Given the description of an element on the screen output the (x, y) to click on. 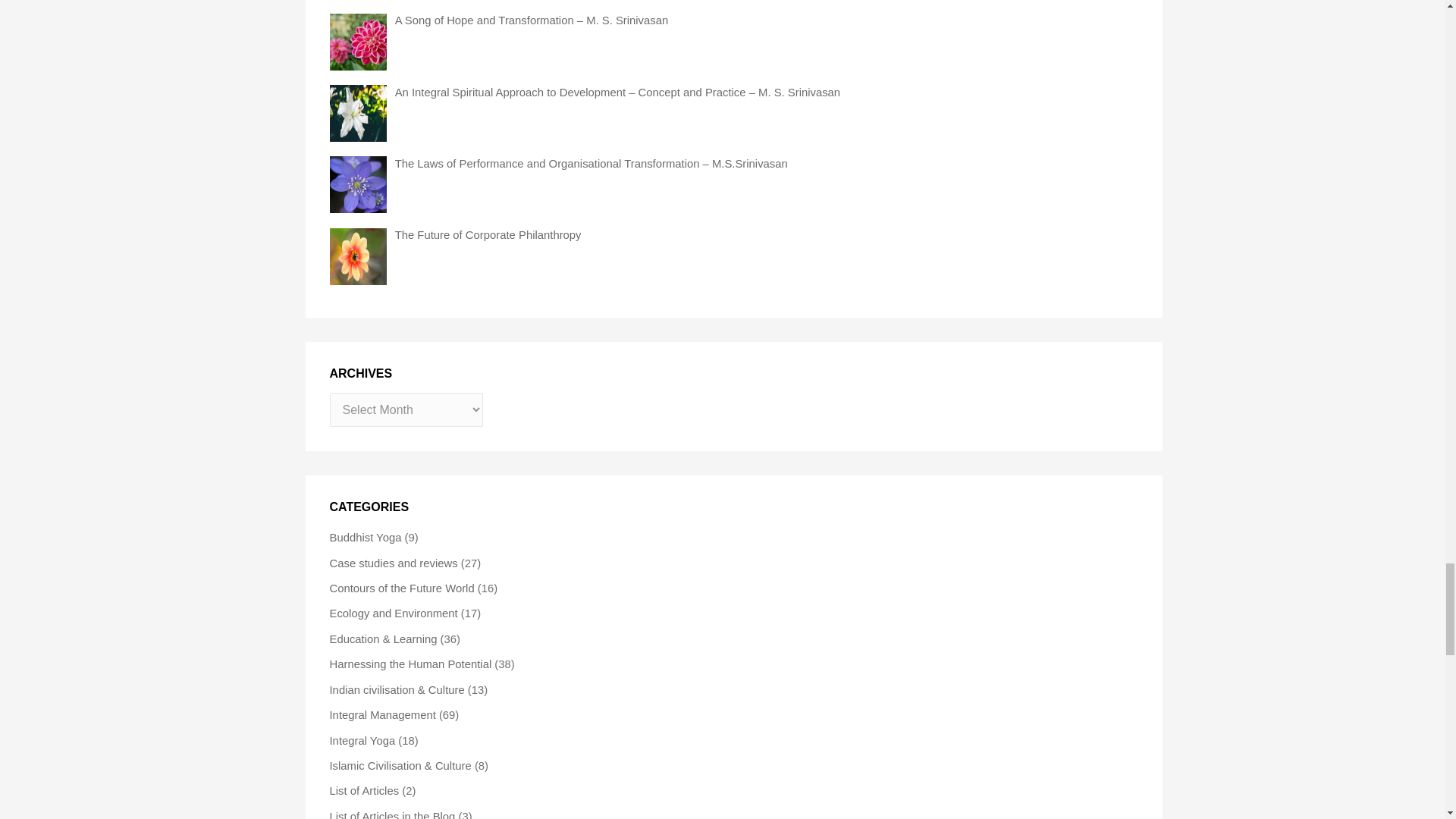
Contours of the Future World (401, 588)
Integral Yoga (361, 740)
List of Articles in the Blog (391, 814)
Harnessing the Human Potential (410, 664)
Buddhist Yoga (365, 537)
Integral Management (382, 715)
Ecology and Environment (393, 613)
The Future of Corporate Philanthropy (487, 234)
Case studies and reviews (393, 563)
List of Articles (363, 790)
